Given the description of an element on the screen output the (x, y) to click on. 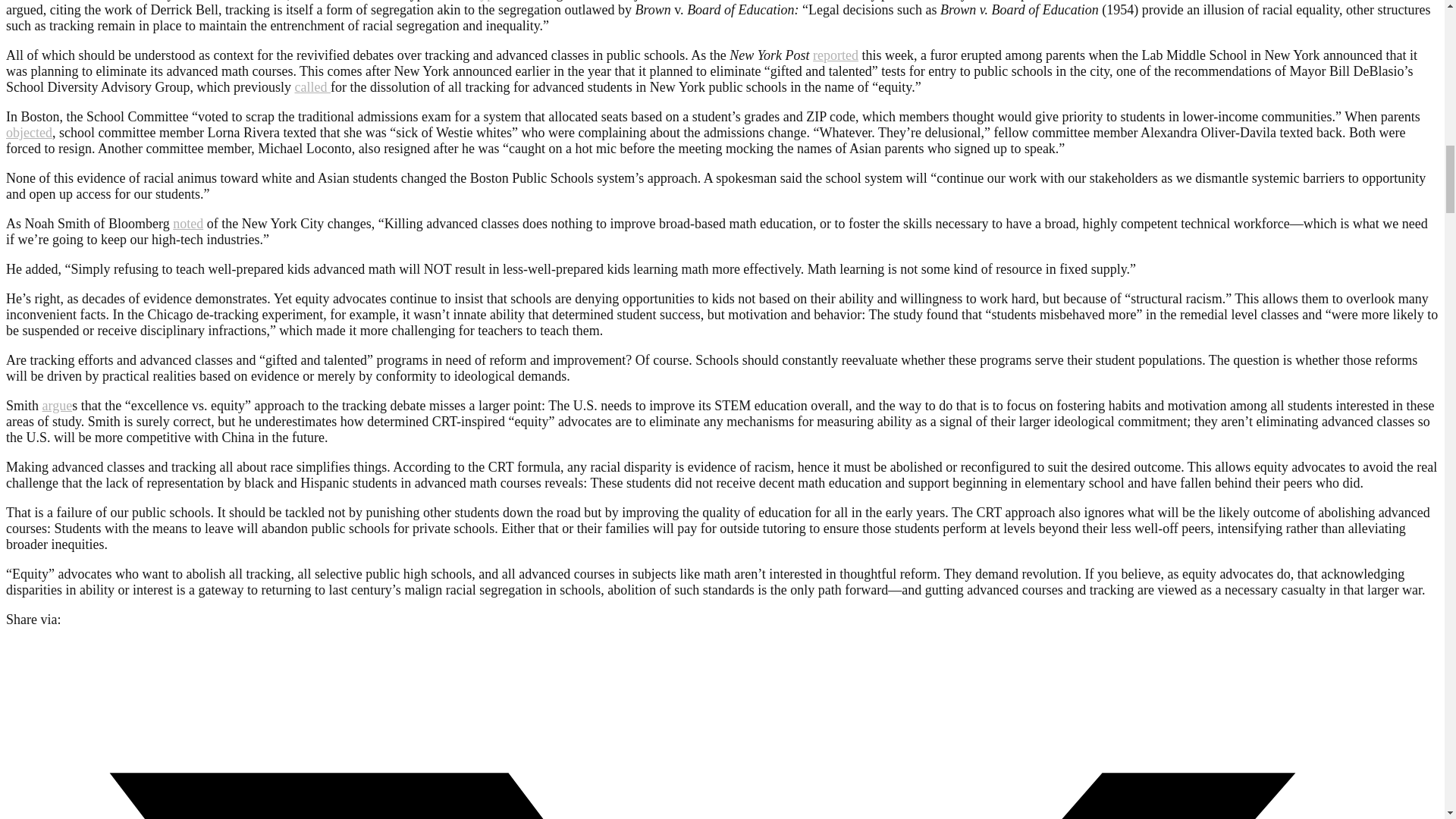
noted (188, 223)
argue (57, 405)
typical (494, 0)
called (312, 87)
objected (28, 132)
reported (835, 55)
